Given the description of an element on the screen output the (x, y) to click on. 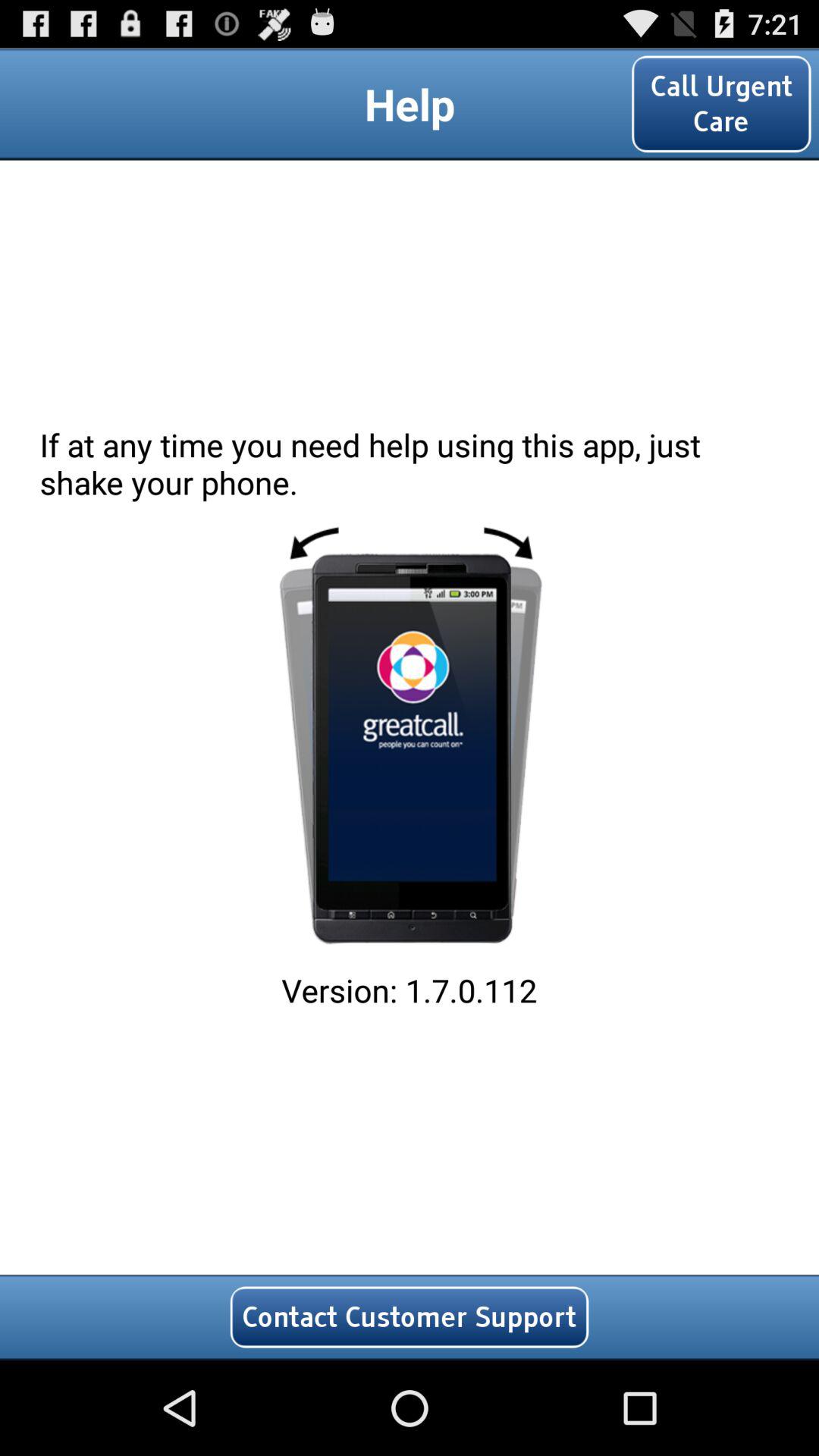
flip to call urgent care icon (721, 103)
